Given the description of an element on the screen output the (x, y) to click on. 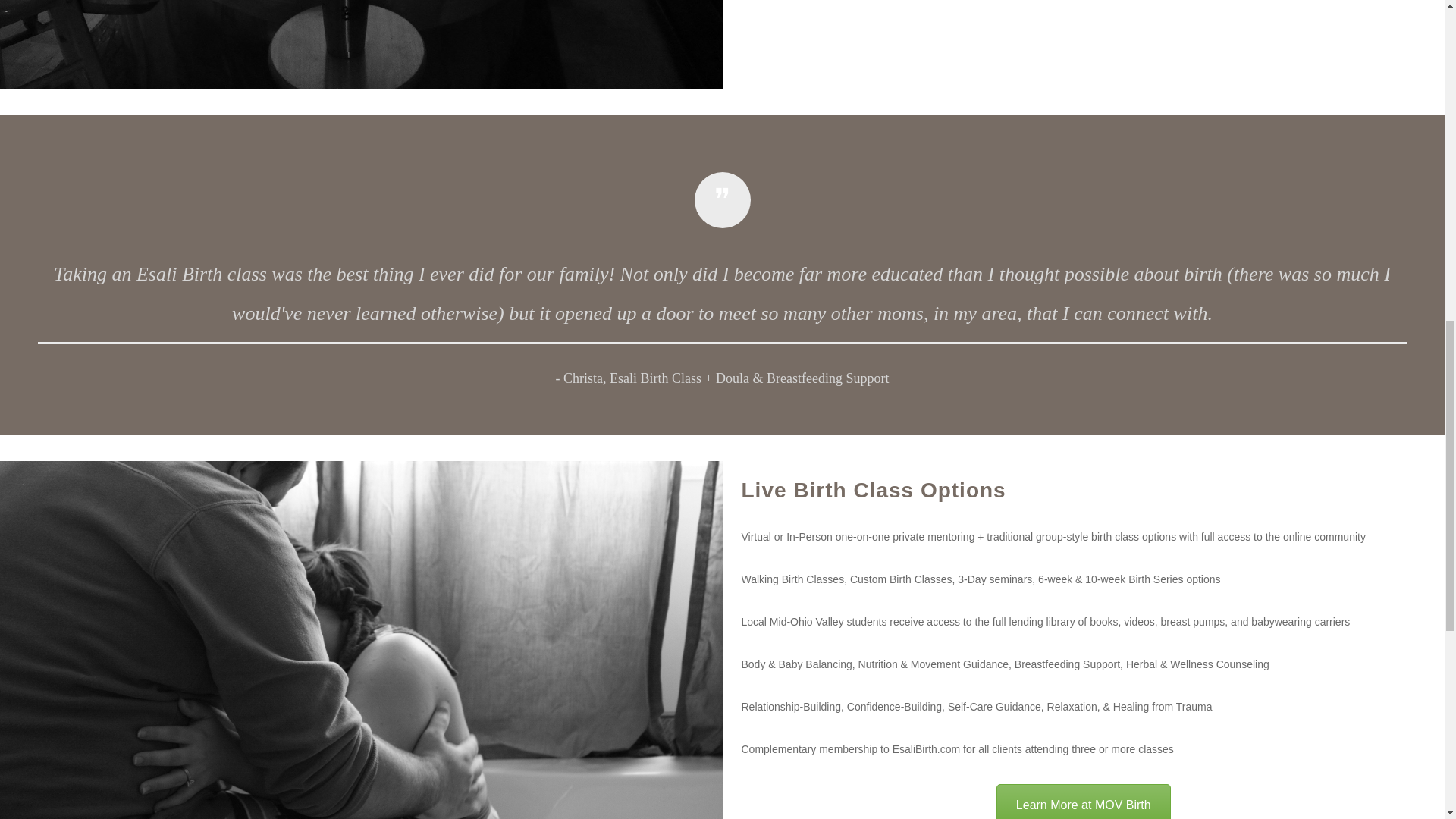
Learn More at MOV Birth (1082, 801)
MOVdoula family support Esali Birth doula (361, 44)
